Given the description of an element on the screen output the (x, y) to click on. 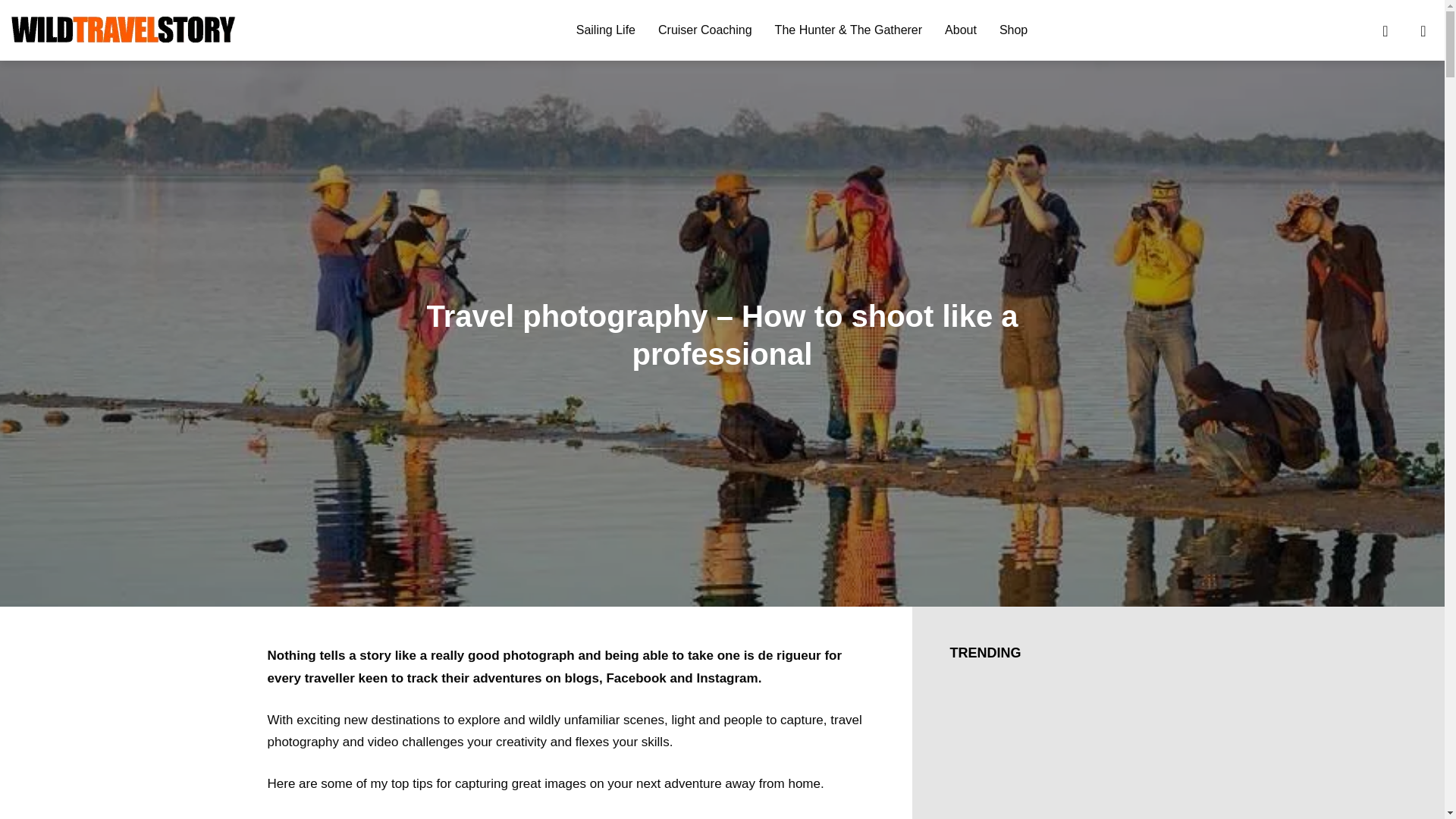
Sailing Life (605, 30)
Cruiser Coaching (705, 30)
